Given the description of an element on the screen output the (x, y) to click on. 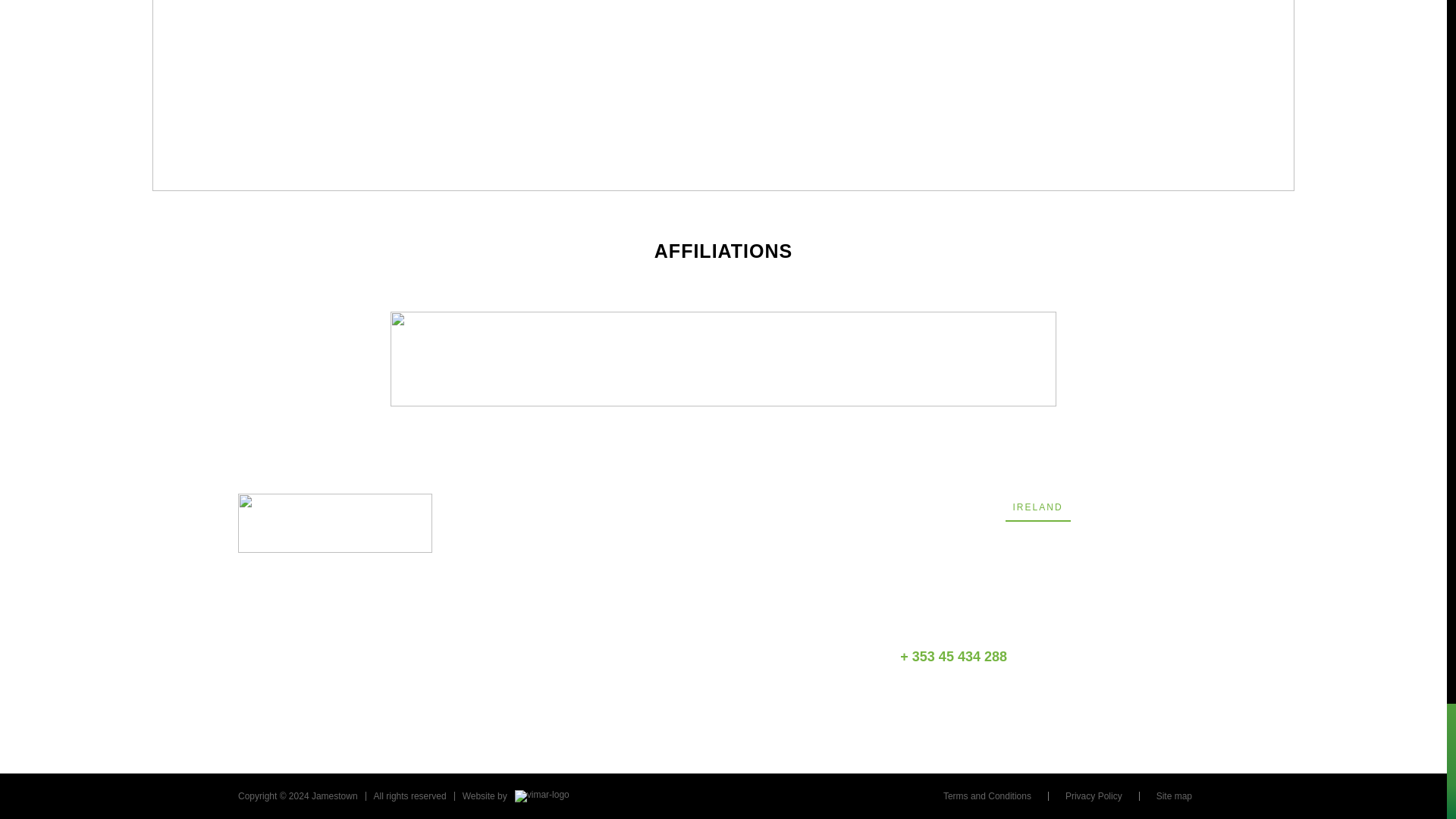
ABOUT US (544, 577)
CONTACT US (552, 550)
CERTIFICATION (560, 656)
CAREERS (542, 630)
FACILITIES (546, 603)
